Given the description of an element on the screen output the (x, y) to click on. 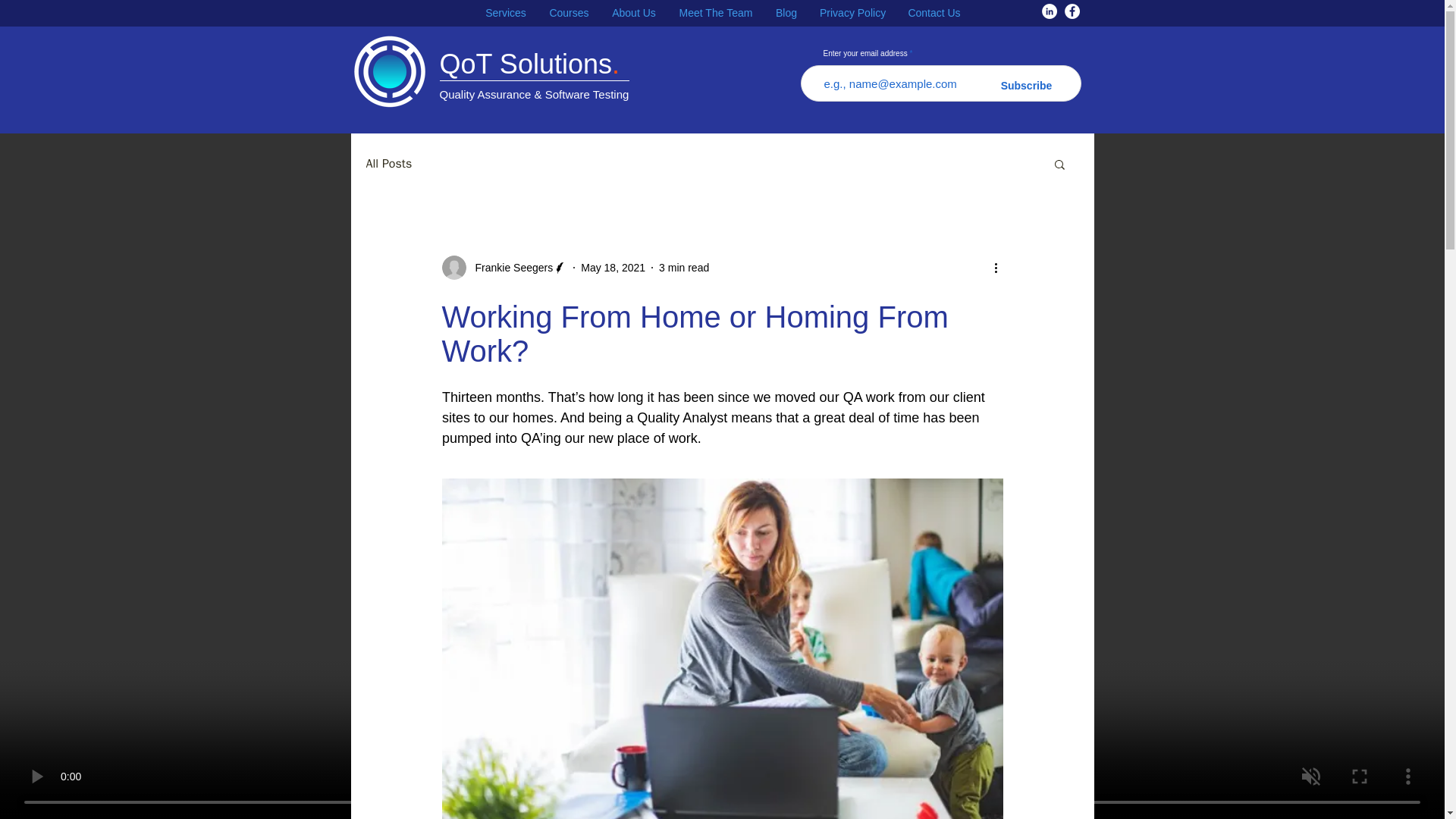
Frankie Seegers (509, 267)
Services (505, 13)
All Posts (388, 163)
Frankie Seegers (504, 267)
QoT Solutions. (529, 64)
Privacy Policy (852, 13)
May 18, 2021 (612, 266)
Blog (786, 13)
3 min read (684, 266)
Contact Us (934, 13)
Courses (568, 13)
Meet The Team (715, 13)
Subscribe (1026, 85)
About Us (632, 13)
